Given the description of an element on the screen output the (x, y) to click on. 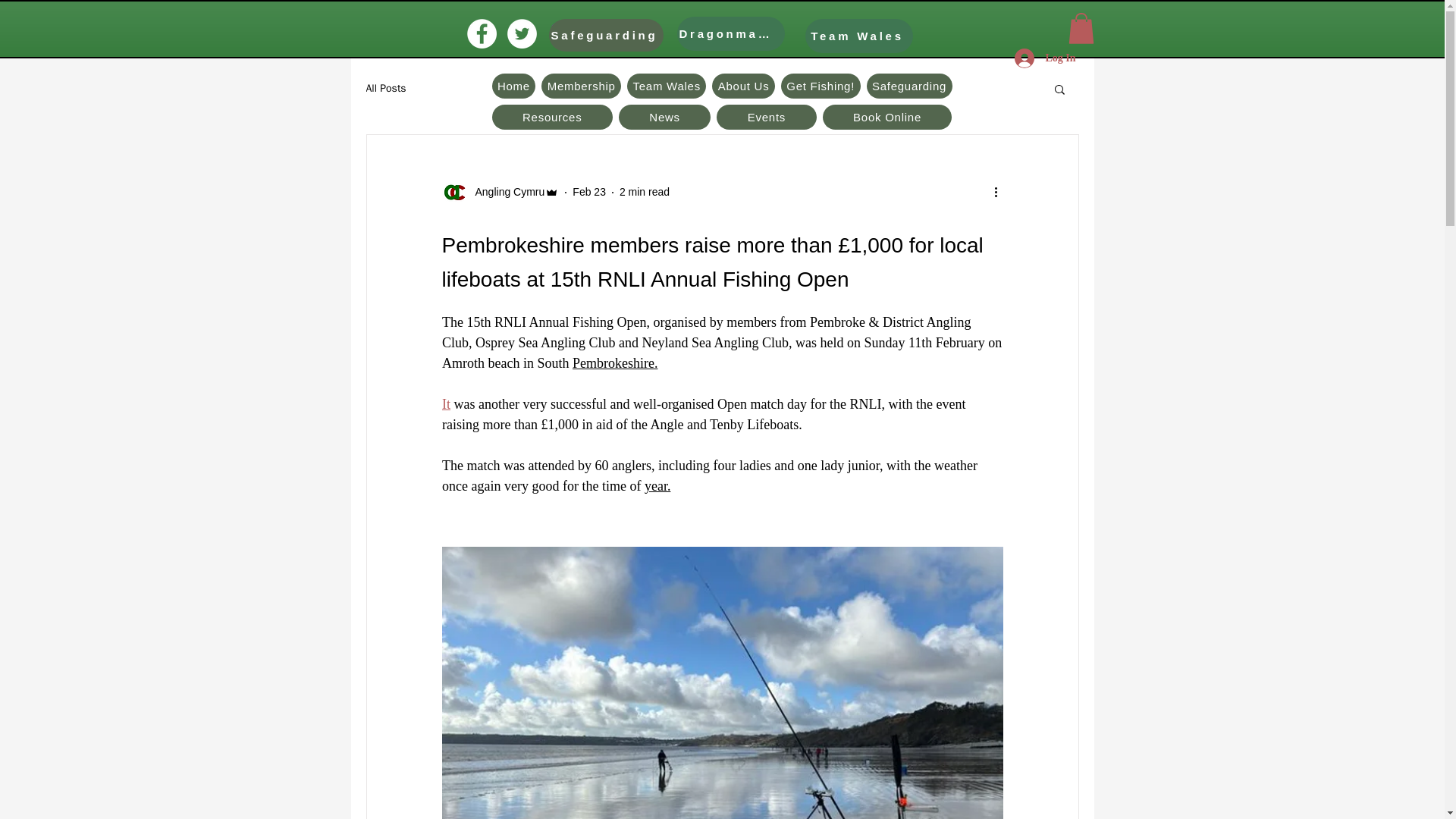
Home (513, 85)
Membership (581, 85)
Dragonmania (730, 33)
Team Wales (666, 85)
Angling Cymru (504, 191)
Safeguarding (605, 34)
Feb 23 (588, 191)
Log In (1045, 58)
All Posts (385, 88)
Team Wales (858, 35)
Angling Cymru (500, 192)
2 min read (644, 191)
